Given the description of an element on the screen output the (x, y) to click on. 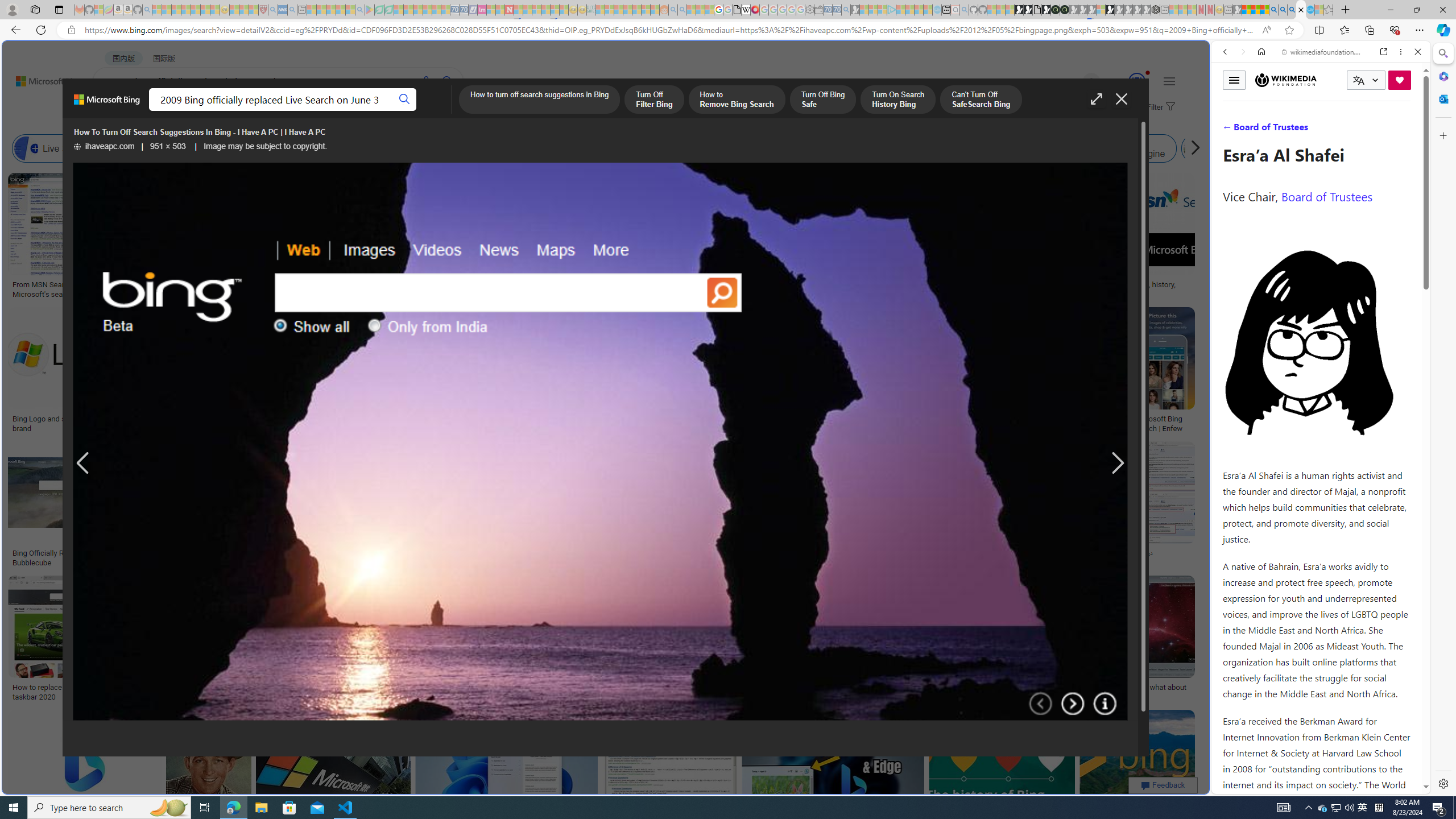
AutomationID: serp_medal_svg (1136, 81)
Bing Image Search Similar Images (894, 148)
Back to Bing search (41, 78)
Bing Word Search (403, 148)
